Given the description of an element on the screen output the (x, y) to click on. 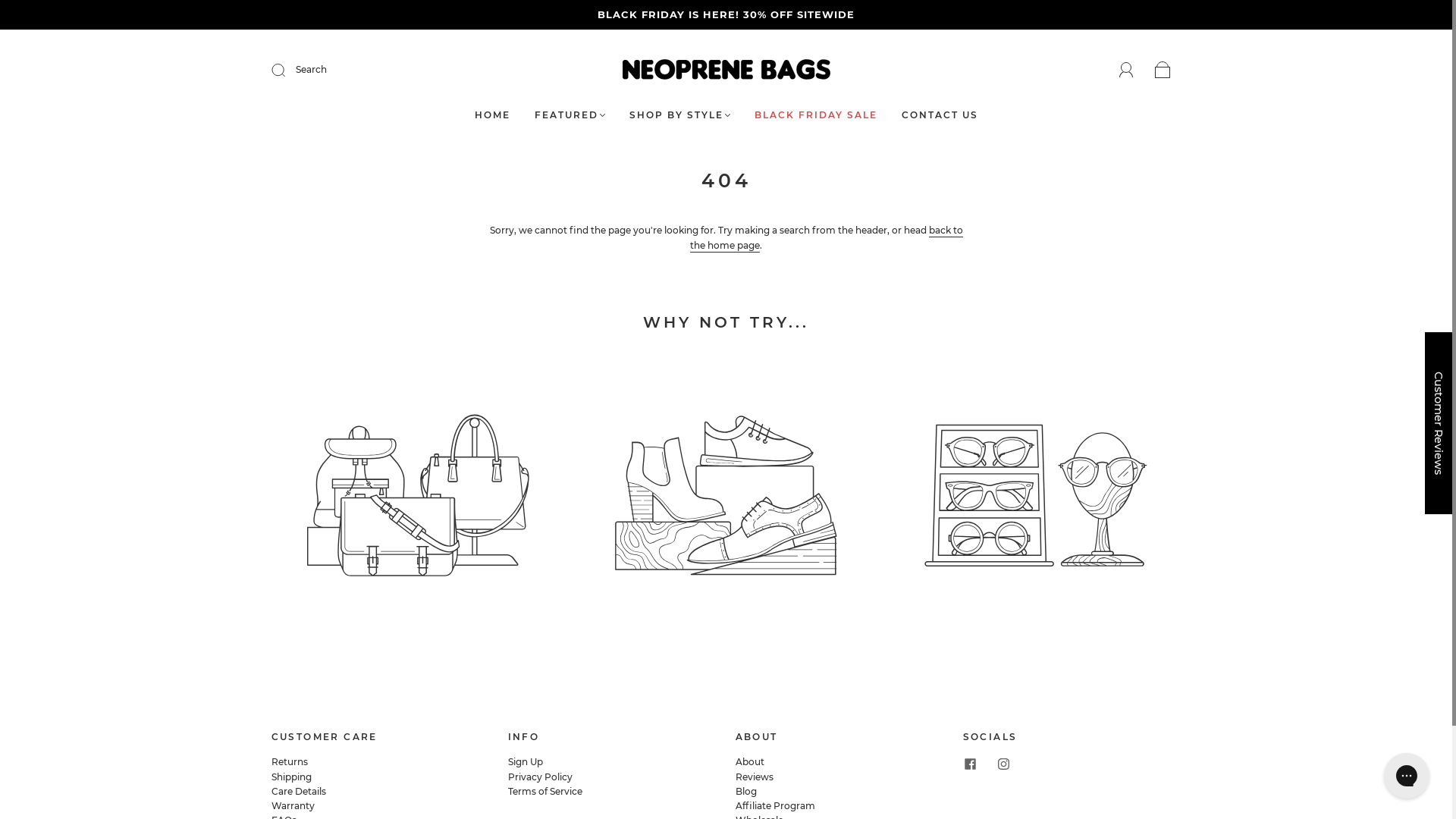
Returns Element type: text (289, 761)
Blog Element type: text (745, 791)
Privacy Policy Element type: text (540, 776)
FEATURED Element type: text (568, 114)
BLACK FRIDAY SALE Element type: text (814, 114)
Warranty Element type: text (292, 805)
Affiliate Program Element type: text (775, 805)
About Element type: text (749, 761)
Shipping Element type: text (291, 776)
CONTACT US Element type: text (938, 114)
Terms of Service Element type: text (545, 791)
Gorgias live chat messenger Element type: hover (1406, 775)
Sign Up Element type: text (525, 761)
back to the home page Element type: text (826, 237)
SHOP BY STYLE Element type: text (679, 114)
Care Details Element type: text (298, 791)
HOME Element type: text (492, 114)
Reviews Element type: text (754, 776)
